Given the description of an element on the screen output the (x, y) to click on. 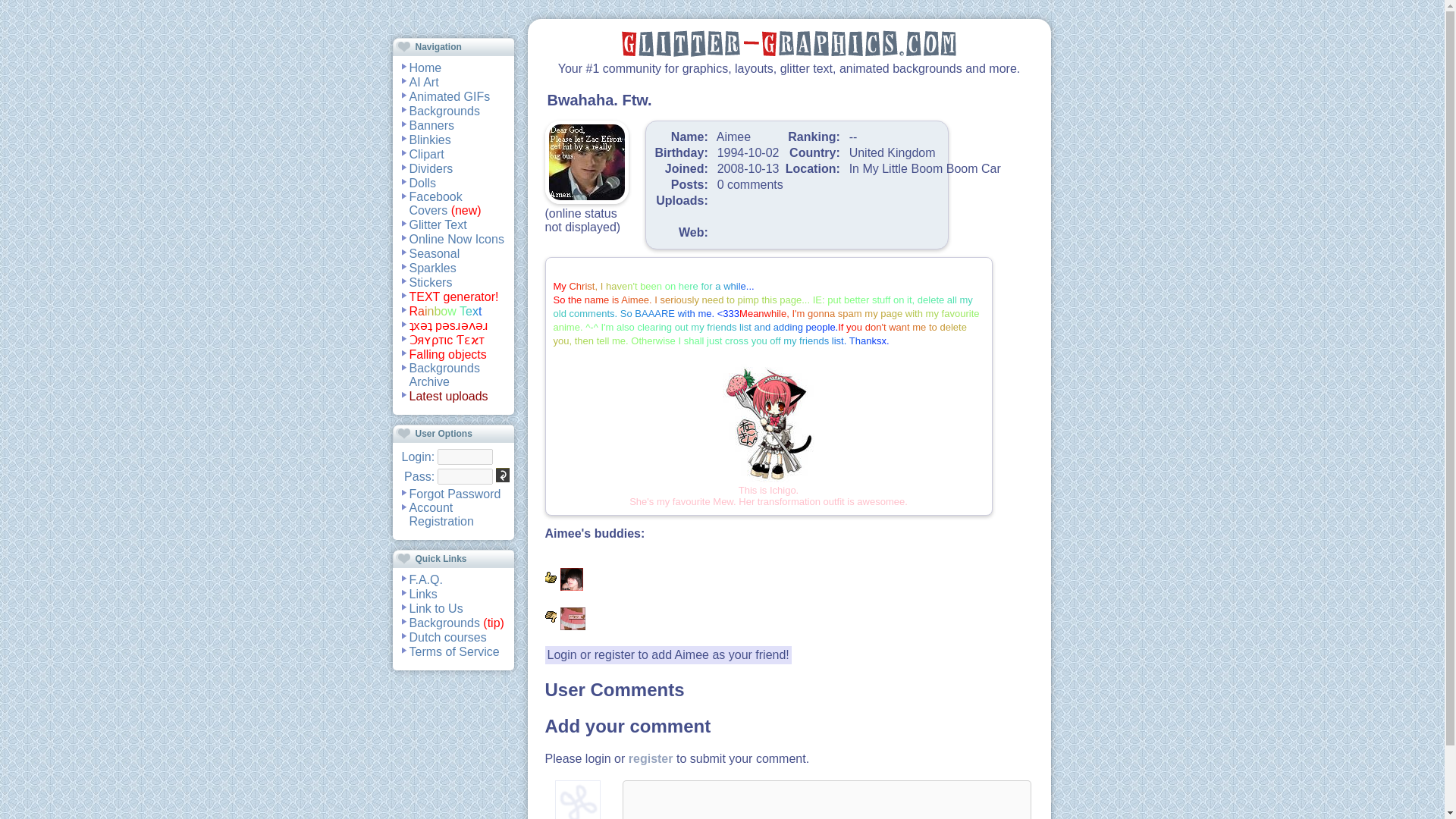
Dividers (430, 168)
AI Art (424, 82)
Banners (431, 124)
Backgrounds Archive (444, 374)
register (614, 654)
Glitter Text (438, 224)
Animated GIFs (449, 95)
Dolls (422, 182)
F.A.Q. (425, 579)
Rainbow Text (445, 310)
